Given the description of an element on the screen output the (x, y) to click on. 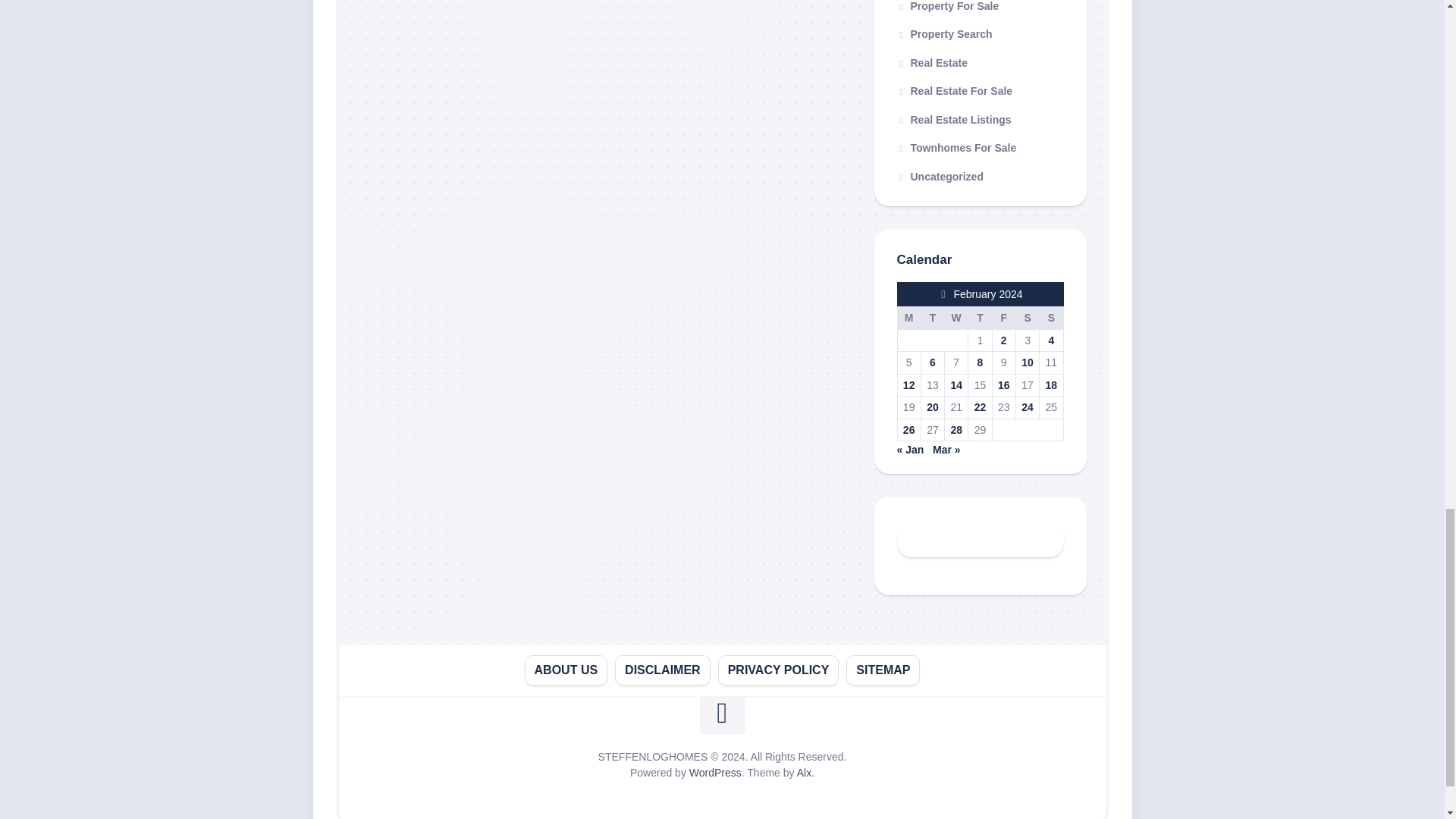
Sunday (1050, 318)
Tuesday (931, 318)
Friday (1002, 318)
Monday (908, 318)
Saturday (1026, 318)
Thursday (979, 318)
Wednesday (956, 318)
